Given the description of an element on the screen output the (x, y) to click on. 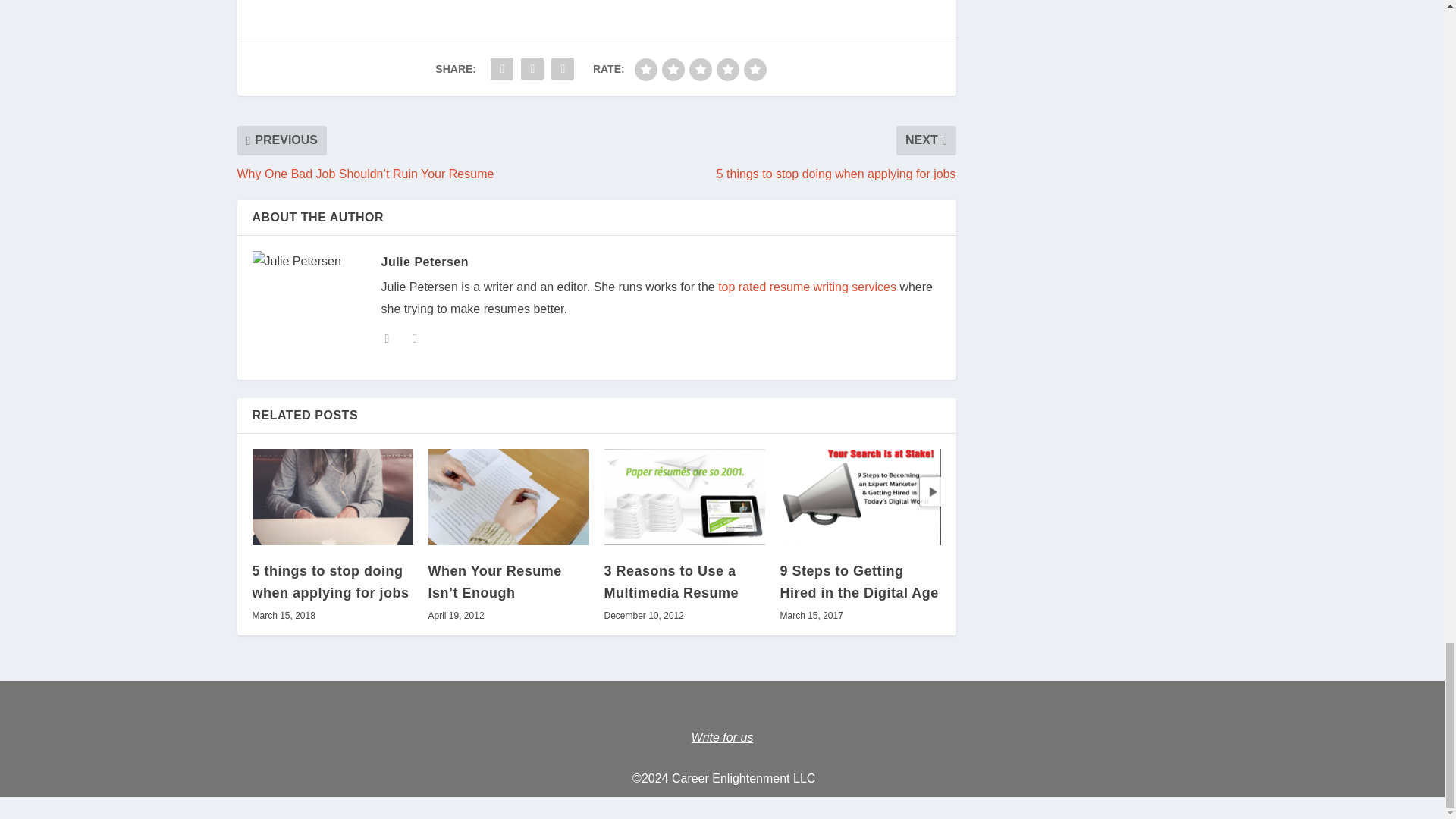
Share "How to Write an Excellent Cover Letter" via Twitter (531, 69)
Share "How to Write an Excellent Cover Letter" via Facebook (501, 69)
Share "How to Write an Excellent Cover Letter" via LinkedIn (562, 69)
